Given the description of an element on the screen output the (x, y) to click on. 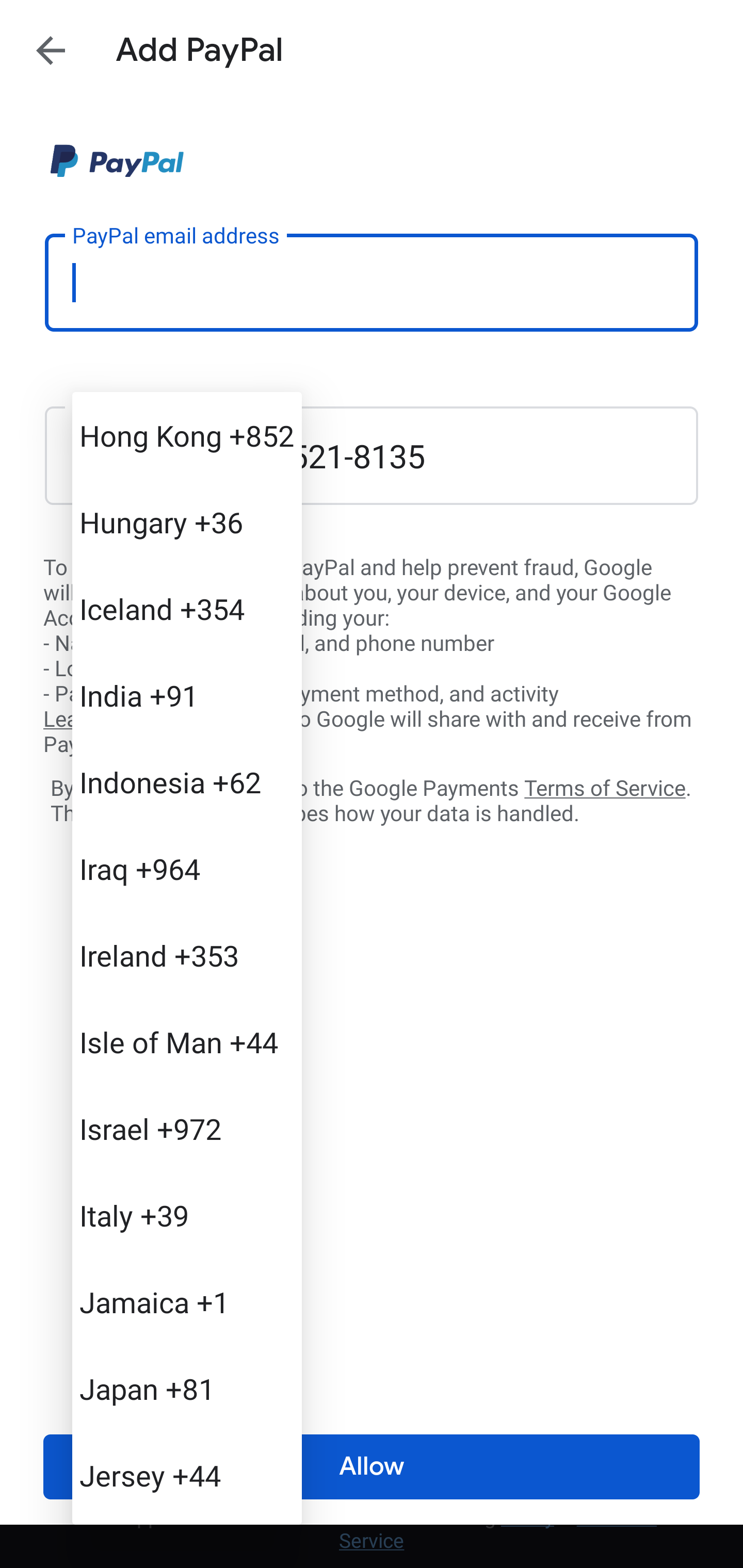
Hong Kong +852 (186, 435)
Hungary +36 (186, 522)
Iceland +354 (186, 609)
India +91 (186, 695)
Indonesia +62 (186, 781)
Iraq +964 (186, 868)
Ireland +353 (186, 955)
Isle of Man +44 (186, 1041)
Israel +972 (186, 1128)
Italy +39 (186, 1215)
Jamaica +1 (186, 1302)
Japan +81 (186, 1388)
Jersey +44 (186, 1474)
